Given the description of an element on the screen output the (x, y) to click on. 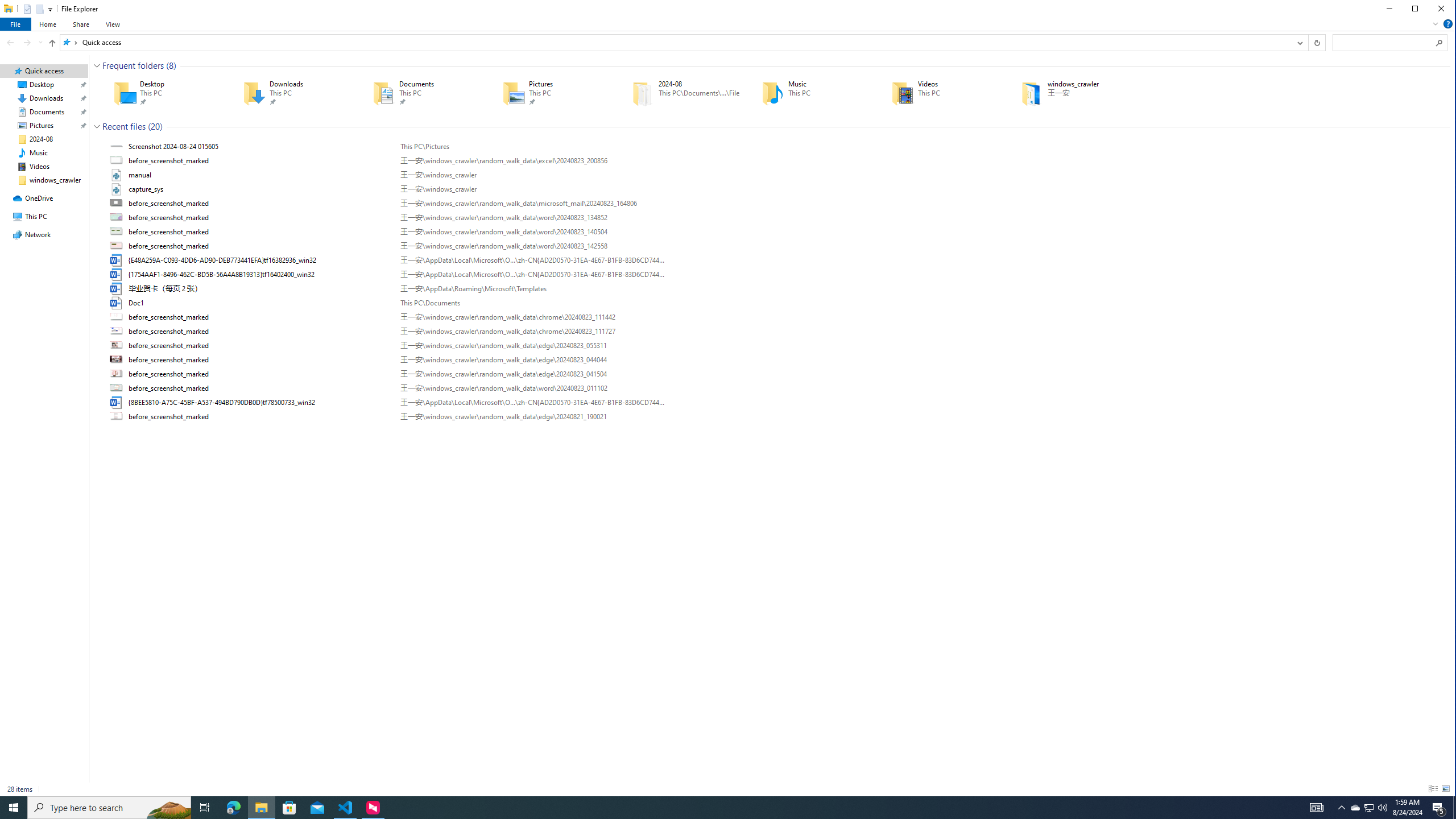
windows_crawler (1070, 93)
Doc1 (776, 302)
2024-08 (680, 93)
Search Box (1384, 42)
Pinned (1088, 101)
Documents (421, 93)
Forward (Alt + Right Arrow) (27, 42)
Search (1439, 42)
Large Icons (1445, 789)
Name (260, 416)
Up to "Desktop" (Alt + Up Arrow) (52, 42)
Properties (26, 8)
Pictures (550, 93)
View (112, 24)
Refresh "Quick access" (F5) (1315, 42)
